Given the description of an element on the screen output the (x, y) to click on. 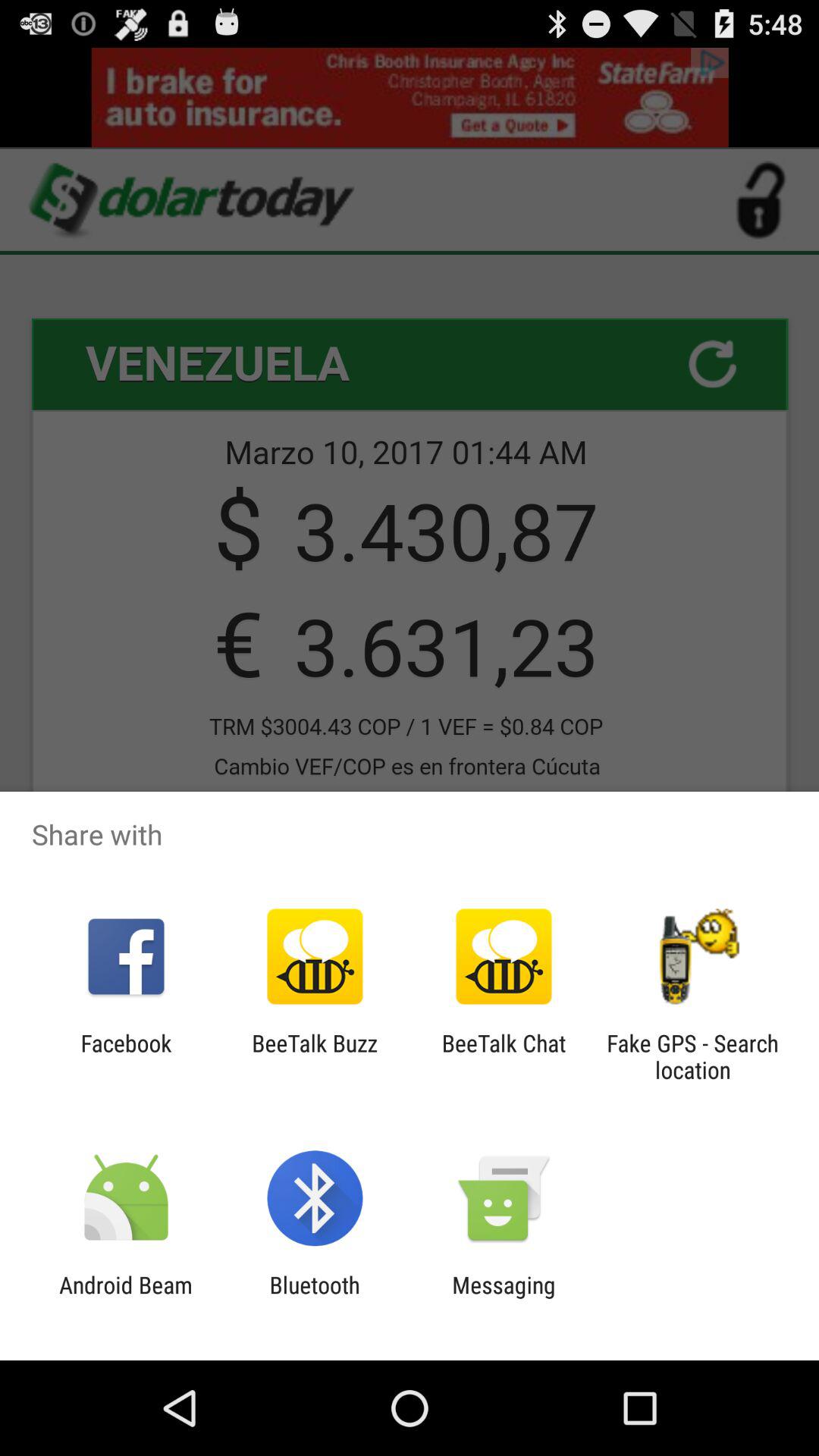
swipe to beetalk chat (503, 1056)
